Given the description of an element on the screen output the (x, y) to click on. 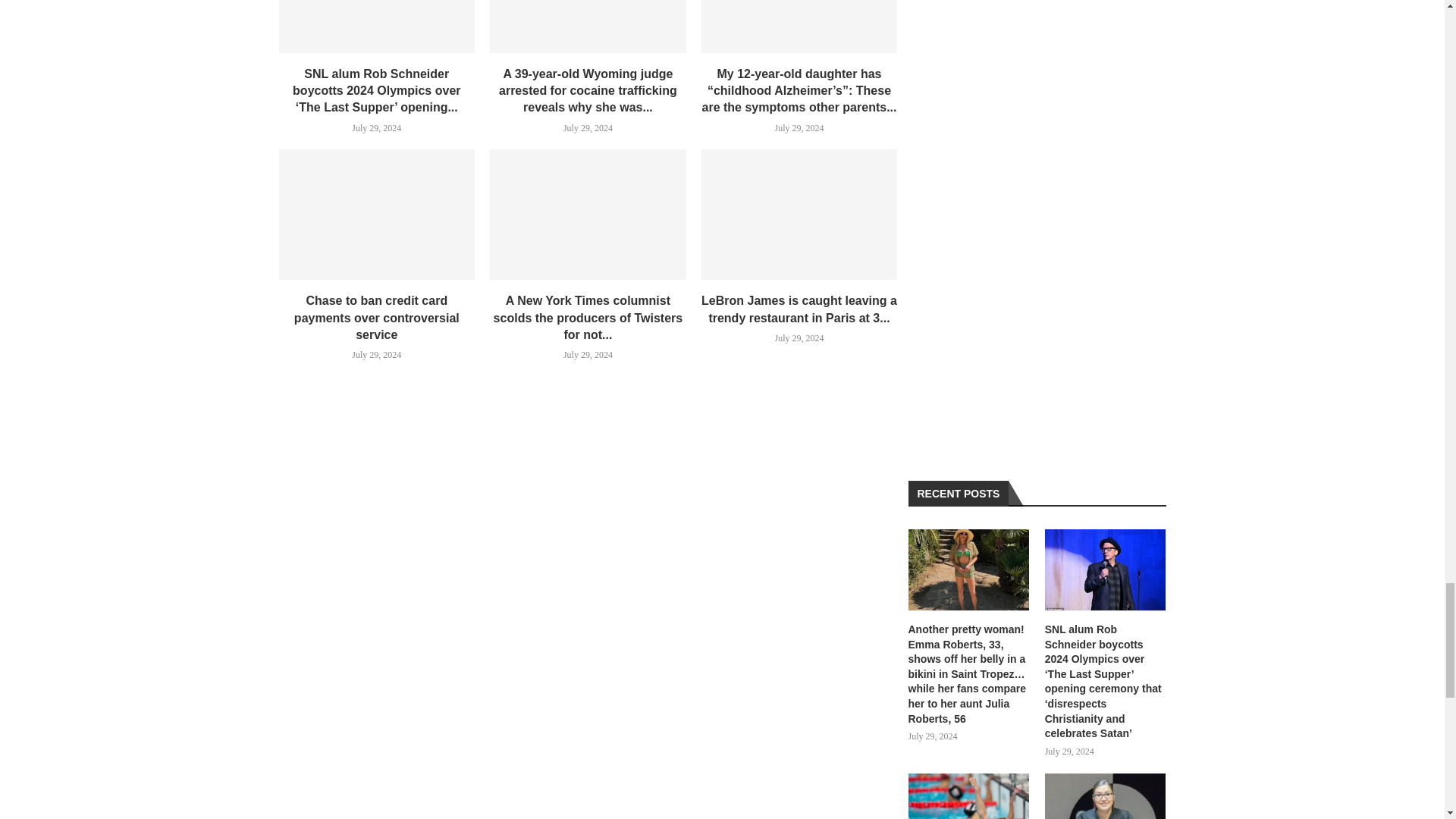
Chase to ban credit card payments over controversial service (377, 214)
